Given the description of an element on the screen output the (x, y) to click on. 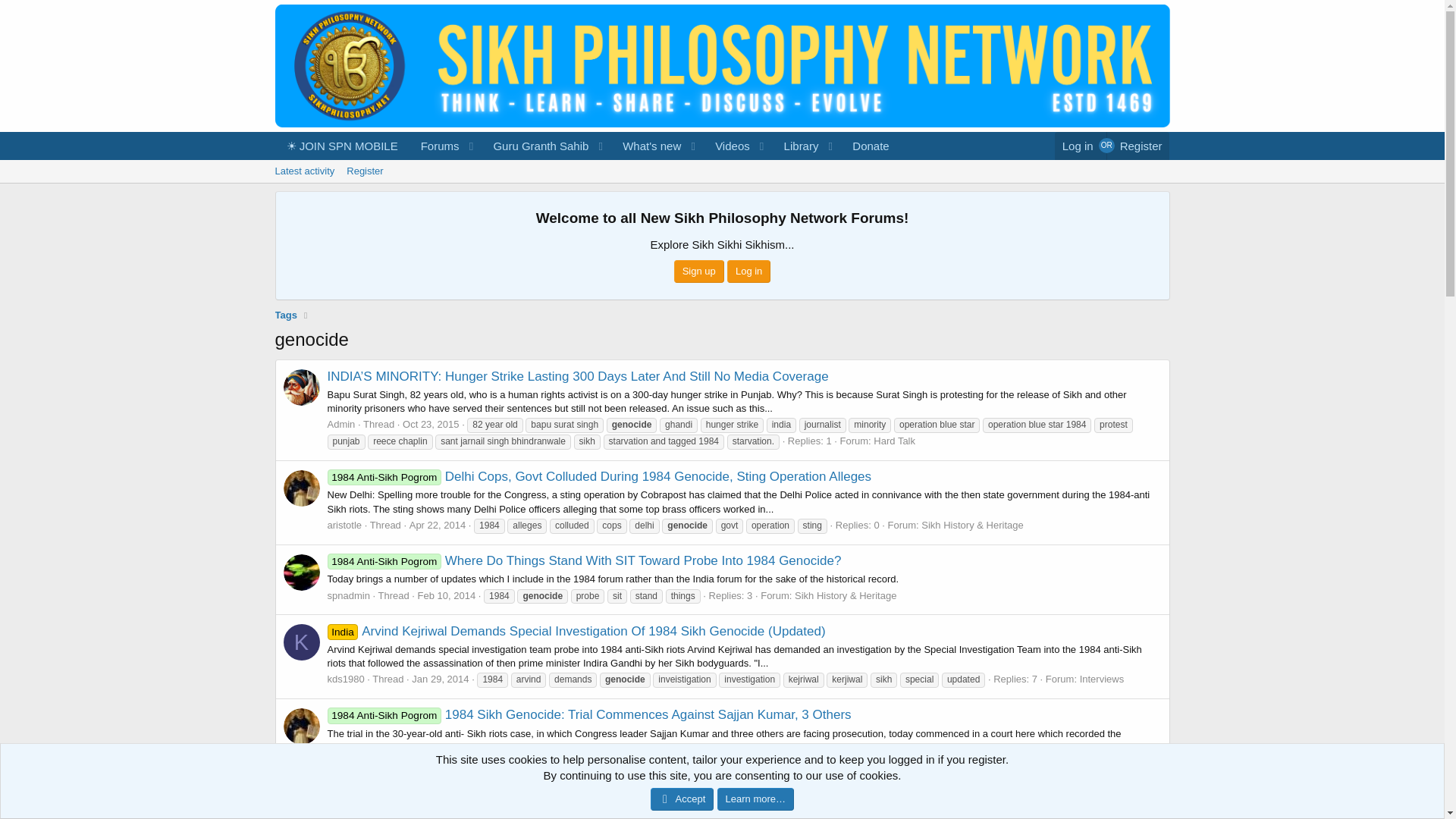
Jan 29, 2014 at 5:56 AM (440, 678)
Oct 23, 2015 at 1:08 PM (430, 423)
Feb 10, 2014 at 10:59 PM (446, 595)
Forums (435, 145)
Apr 22, 2014 at 3:18 AM (437, 524)
Jan 10, 2014 at 1:30 PM (720, 188)
Guru Granth Sahib (437, 763)
